Given the description of an element on the screen output the (x, y) to click on. 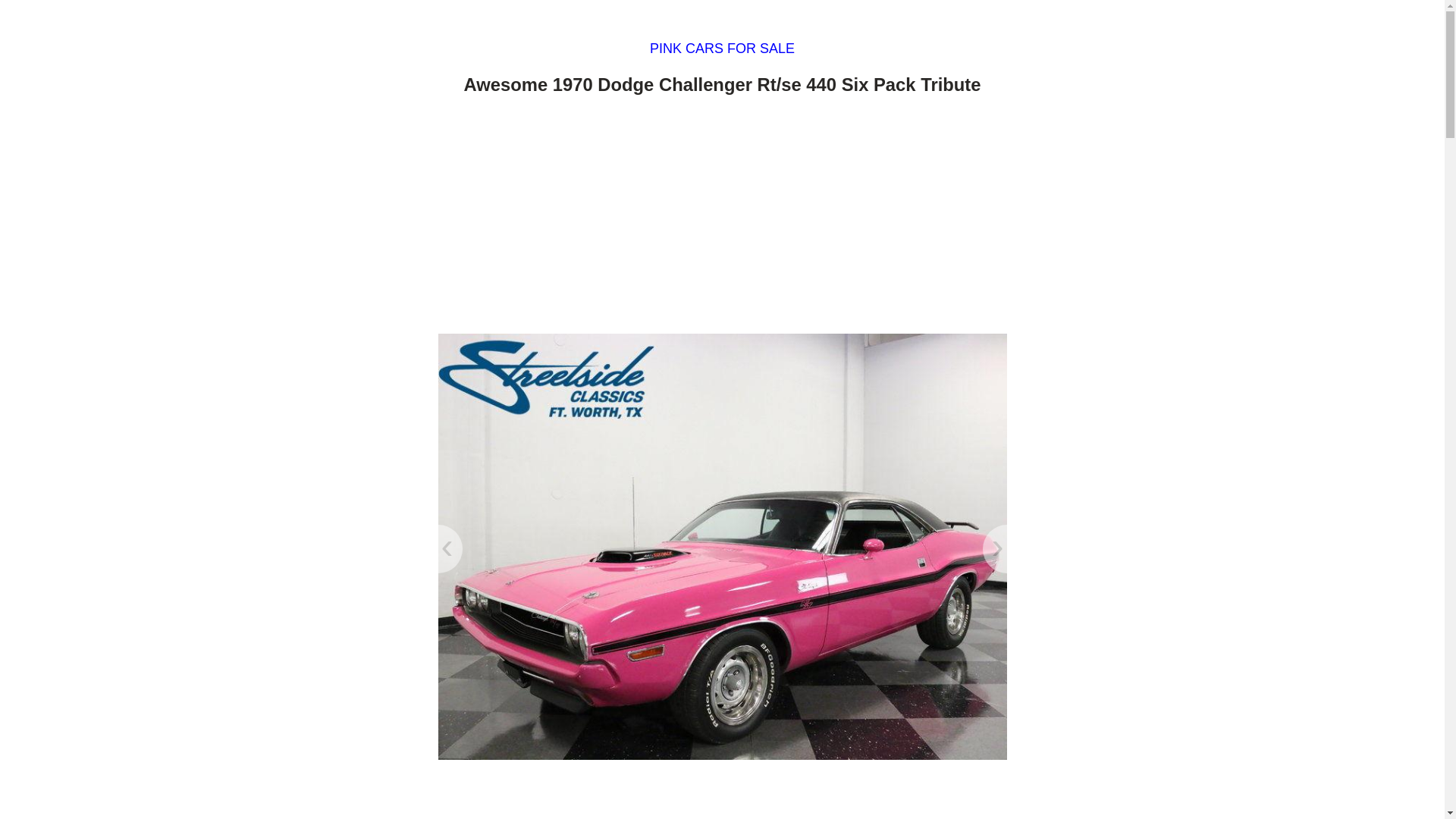
PINK CARS FOR SALE (721, 48)
Advertisement (722, 218)
Advertisement (722, 795)
